Given the description of an element on the screen output the (x, y) to click on. 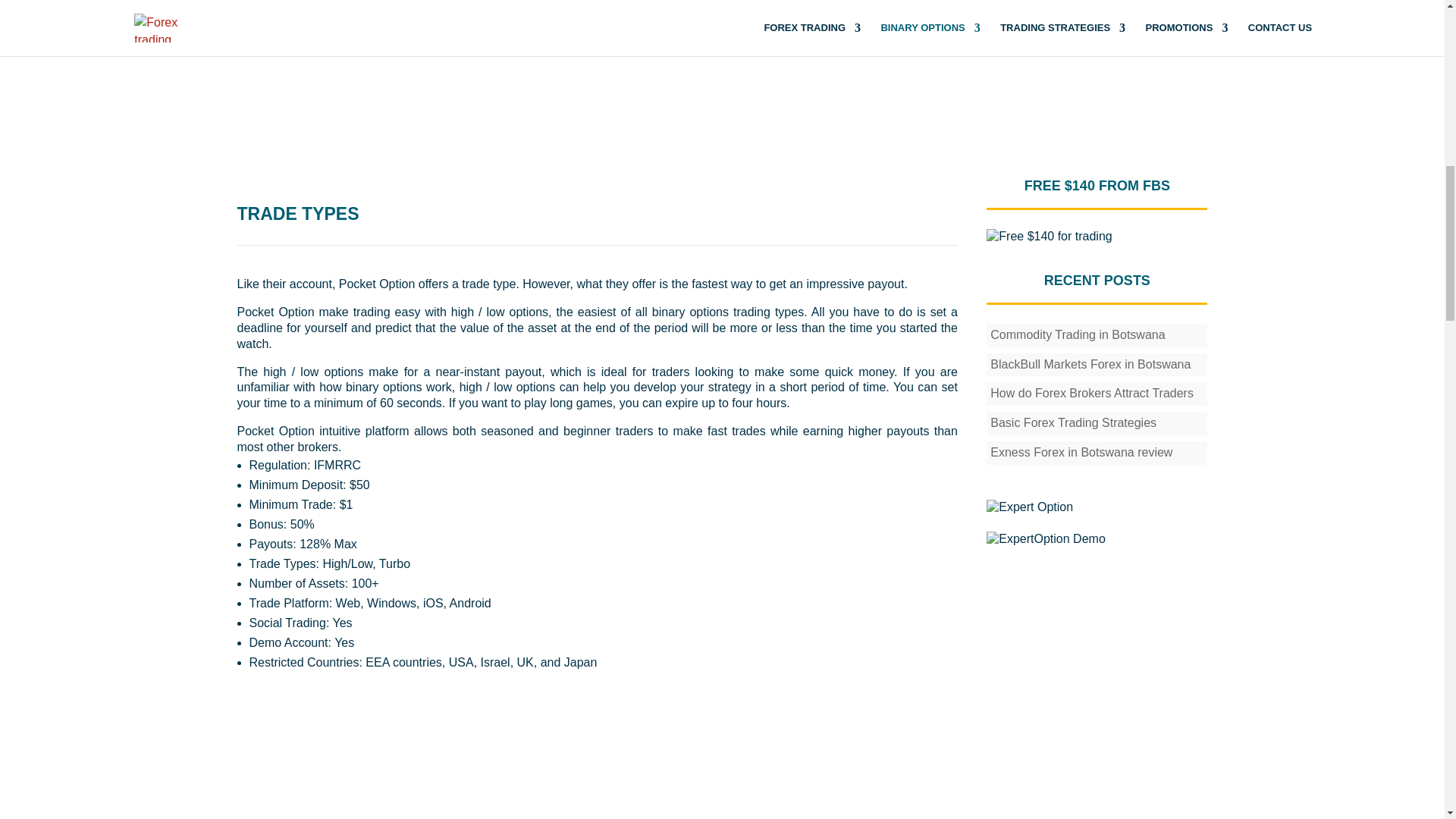
BlackBull Markets Forex in Botswana (1090, 364)
How do Forex Brokers Attract Traders (1091, 392)
Basic Forex Trading Strategies (1073, 422)
Commodity Trading in Botswana (1077, 334)
Exness Forex in Botswana review (1081, 451)
